Given the description of an element on the screen output the (x, y) to click on. 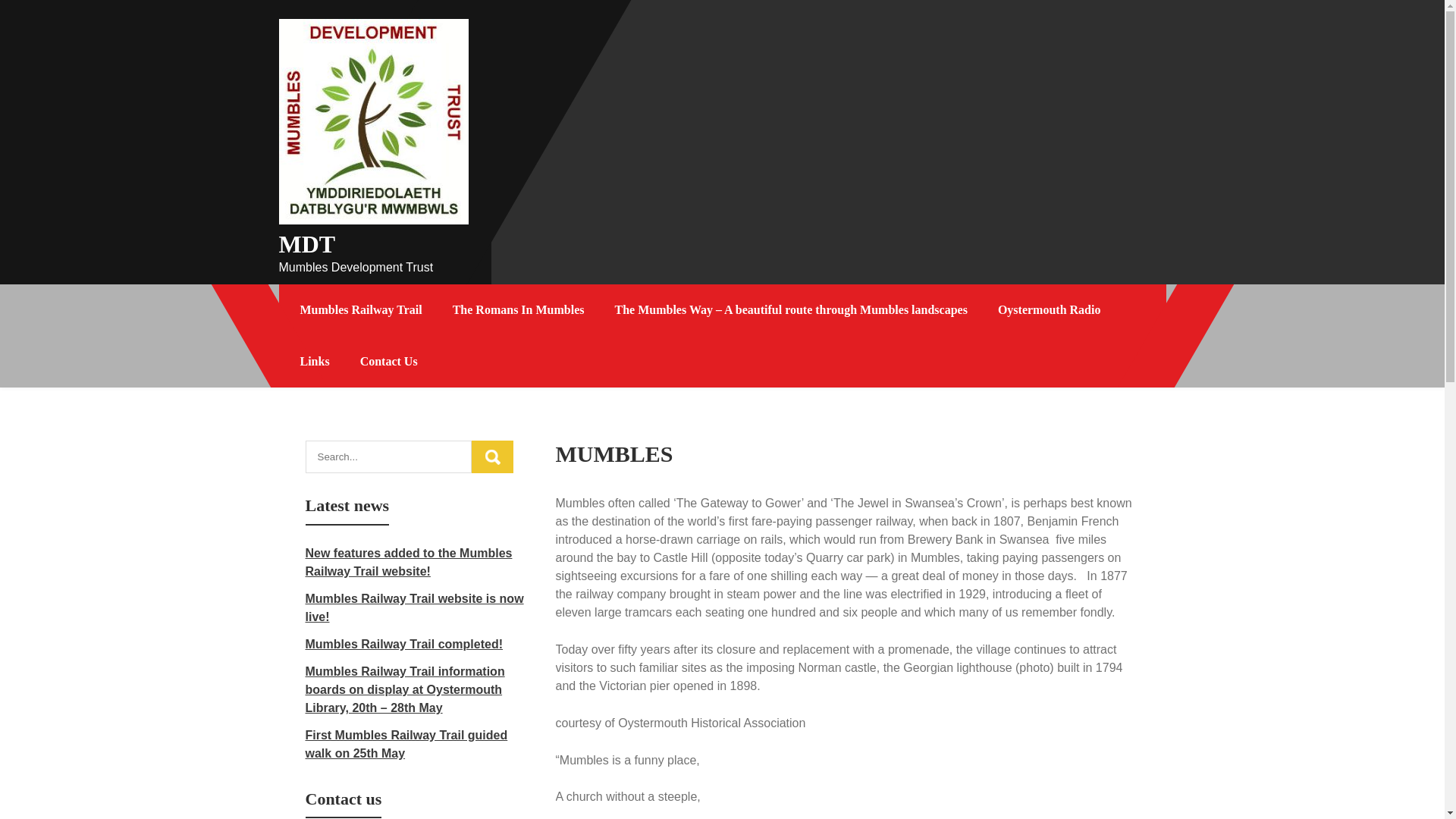
Links (314, 361)
Mumbles Railway Trail (360, 309)
New features added to the Mumbles Railway Trail website! (408, 562)
Mumbles Railway Trail website is now live! (413, 607)
Contact Us (388, 361)
Search (492, 456)
Oystermouth Radio (1049, 309)
The Romans In Mumbles (518, 309)
Search (492, 456)
MDT (307, 243)
Mumbles Railway Trail completed! (403, 644)
First Mumbles Railway Trail guided walk on 25th May (405, 744)
Search (492, 456)
